Given the description of an element on the screen output the (x, y) to click on. 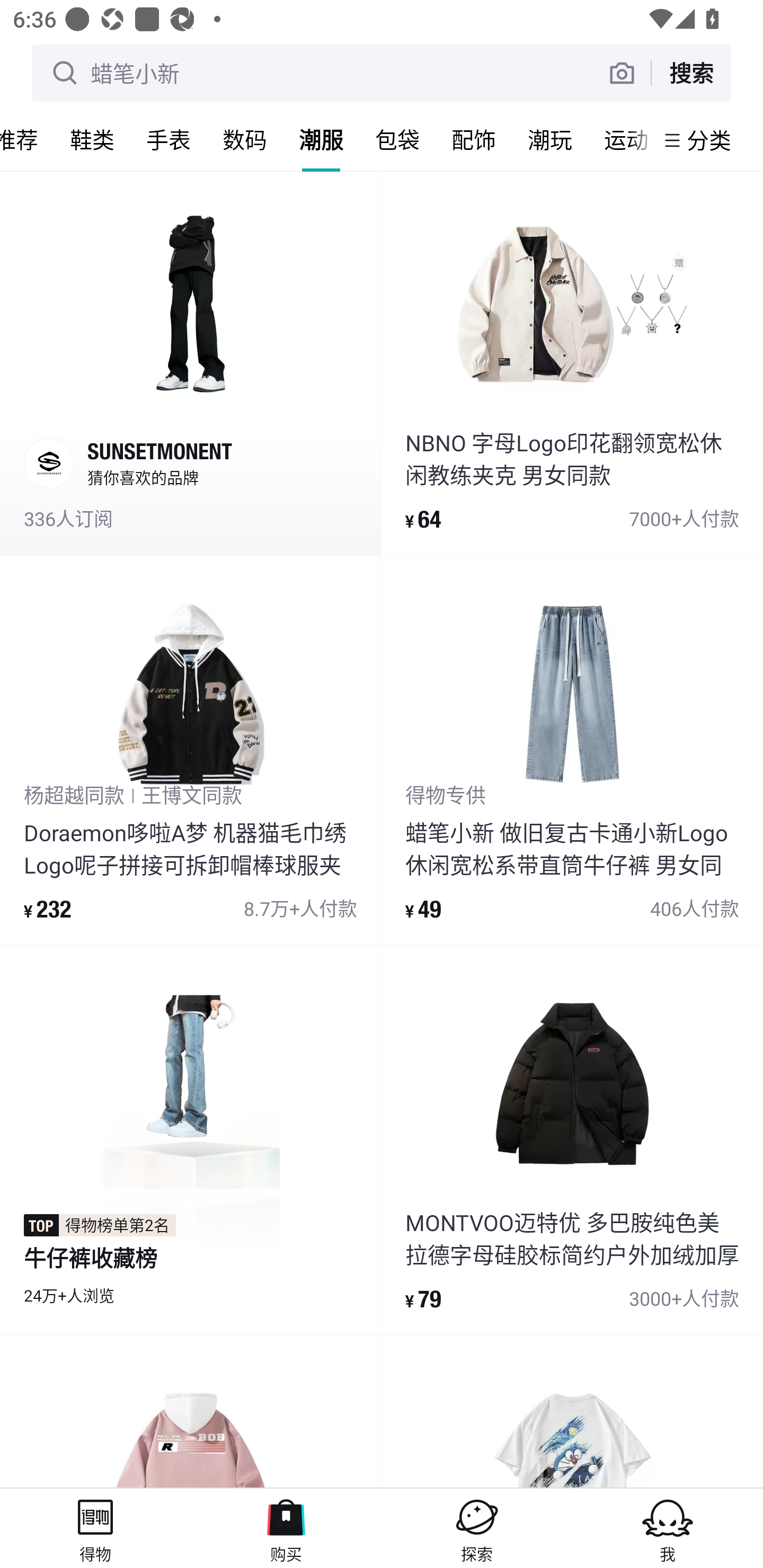
搜索 (690, 72)
鞋类 (92, 139)
手表 (168, 139)
数码 (244, 139)
潮服 (321, 139)
包袋 (397, 139)
配饰 (473, 139)
潮玩 (549, 139)
运动 (621, 139)
分类 (708, 139)
SUNSETMONENT 猜你喜欢的品牌 336人订阅 (190, 362)
得物榜单第2名 牛仔裤收藏榜 24万+人浏览 (190, 1139)
product_item (190, 1411)
product_item (572, 1411)
得物 (95, 1528)
购买 (285, 1528)
探索 (476, 1528)
我 (667, 1528)
